Given the description of an element on the screen output the (x, y) to click on. 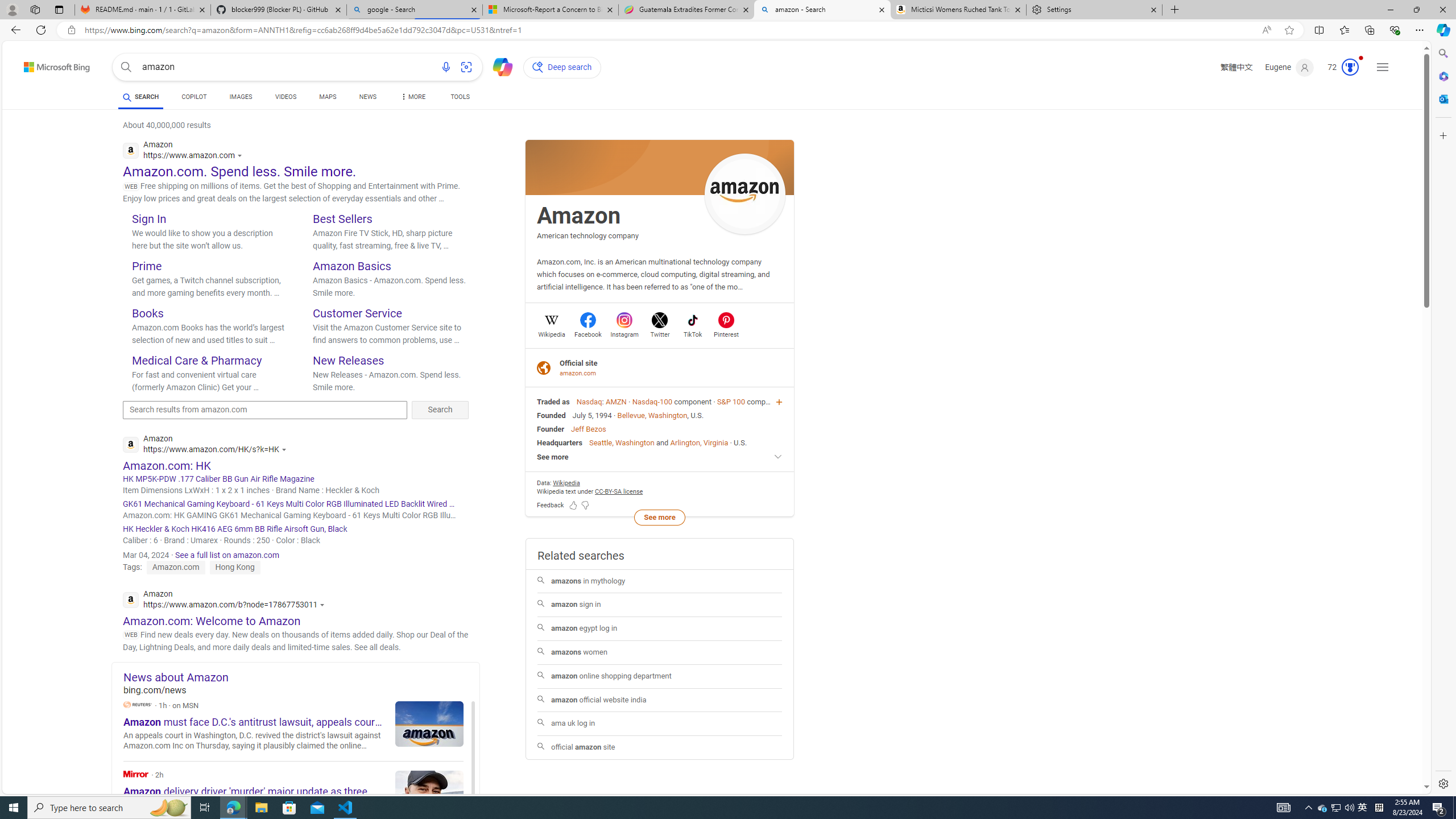
amazon egypt log in (659, 628)
HK Heckler & Koch HK416 AEG 6mm BB Rifle Airsoft Gun, Black (295, 528)
amazon official website india (659, 699)
See a full list on amazon.com (226, 555)
Tags: Amazon.com Hong Kong (191, 567)
SEARCH (140, 96)
amazons in mythology (659, 581)
Search more (1400, 753)
